Given the description of an element on the screen output the (x, y) to click on. 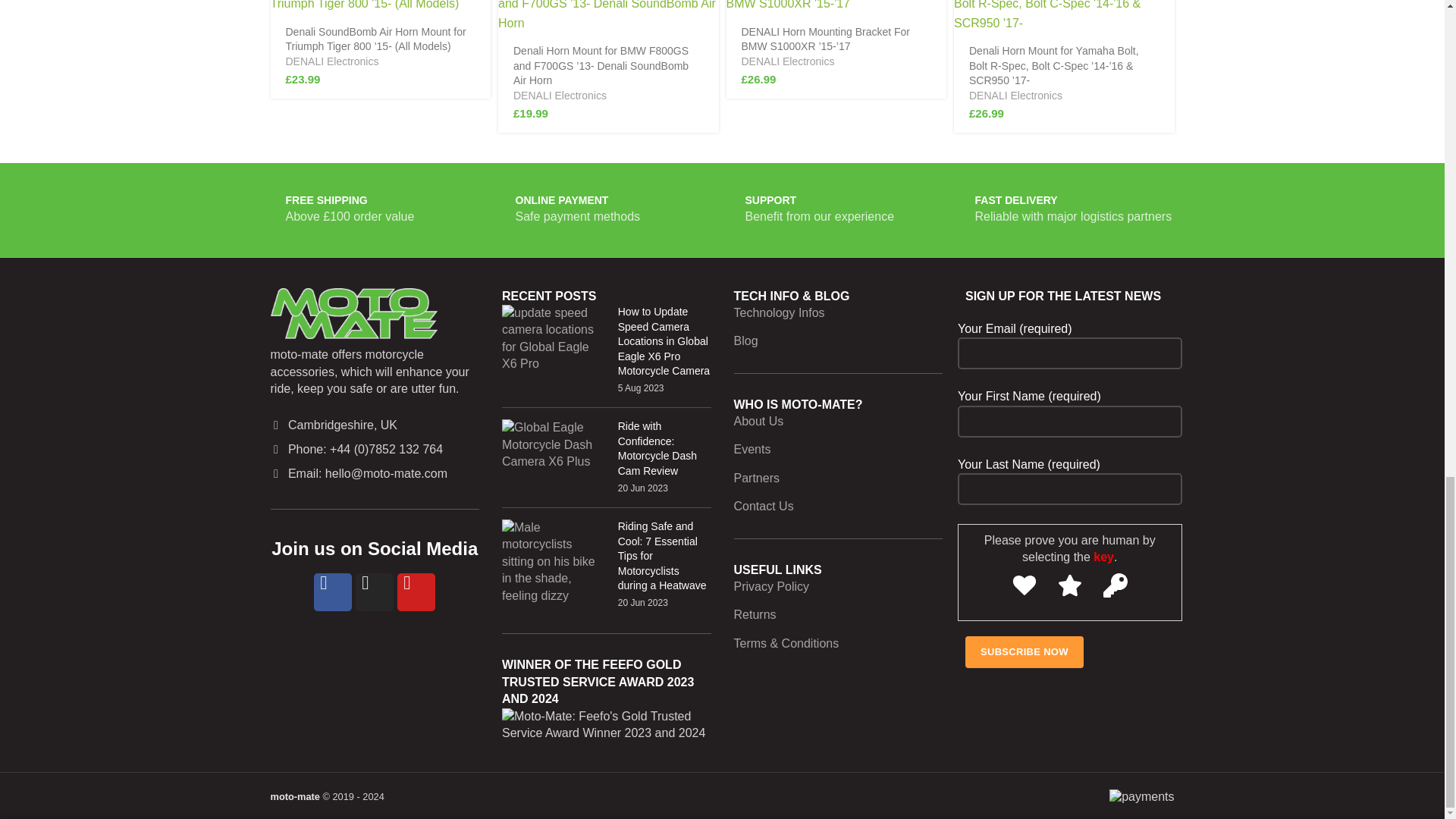
Subscribe Now (1024, 652)
